Given the description of an element on the screen output the (x, y) to click on. 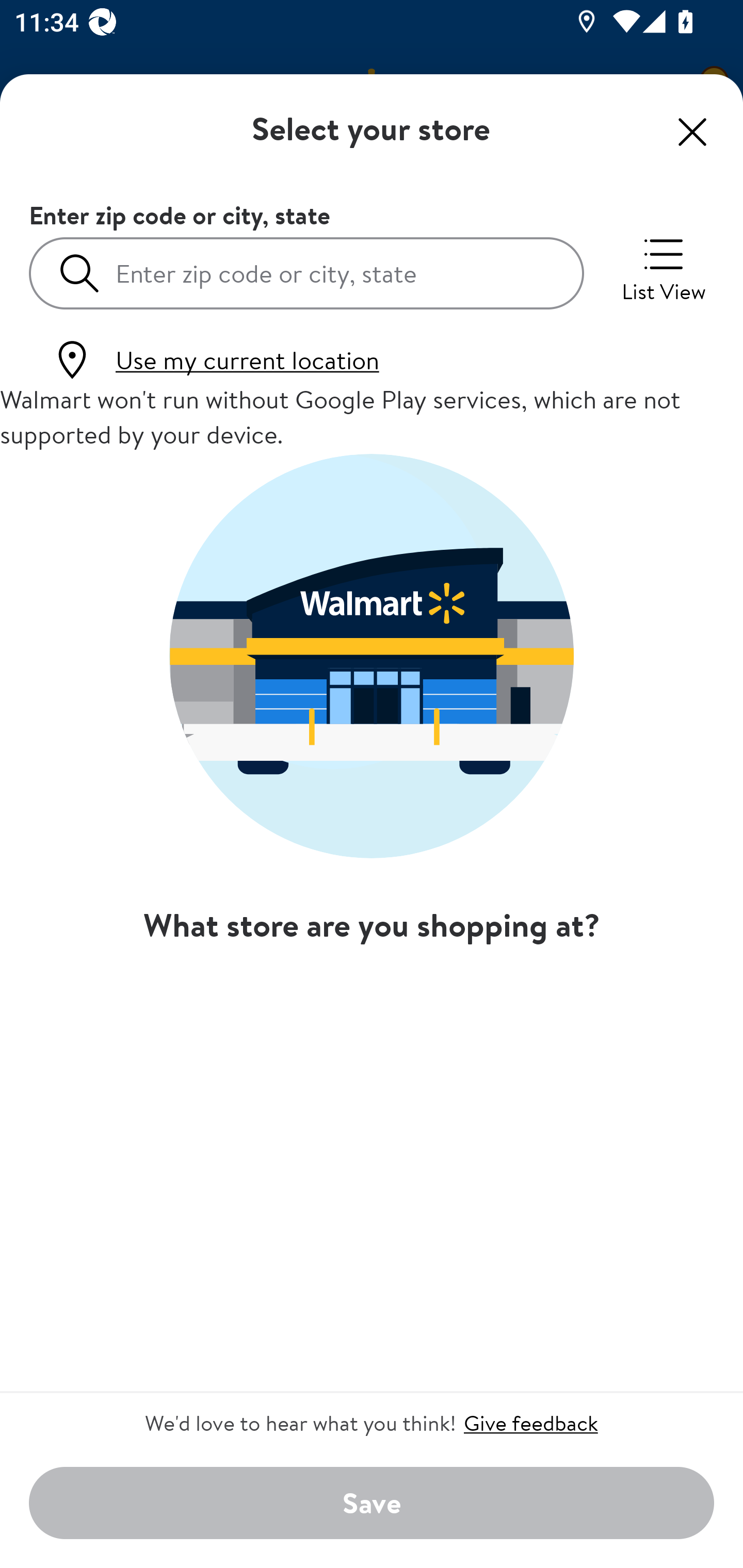
Close (692, 131)
List View Switch to list view (663, 268)
Enter zip code or city, state (305, 272)
Use my current location (214, 359)
Give feedback (530, 1422)
Save (371, 1503)
